Given the description of an element on the screen output the (x, y) to click on. 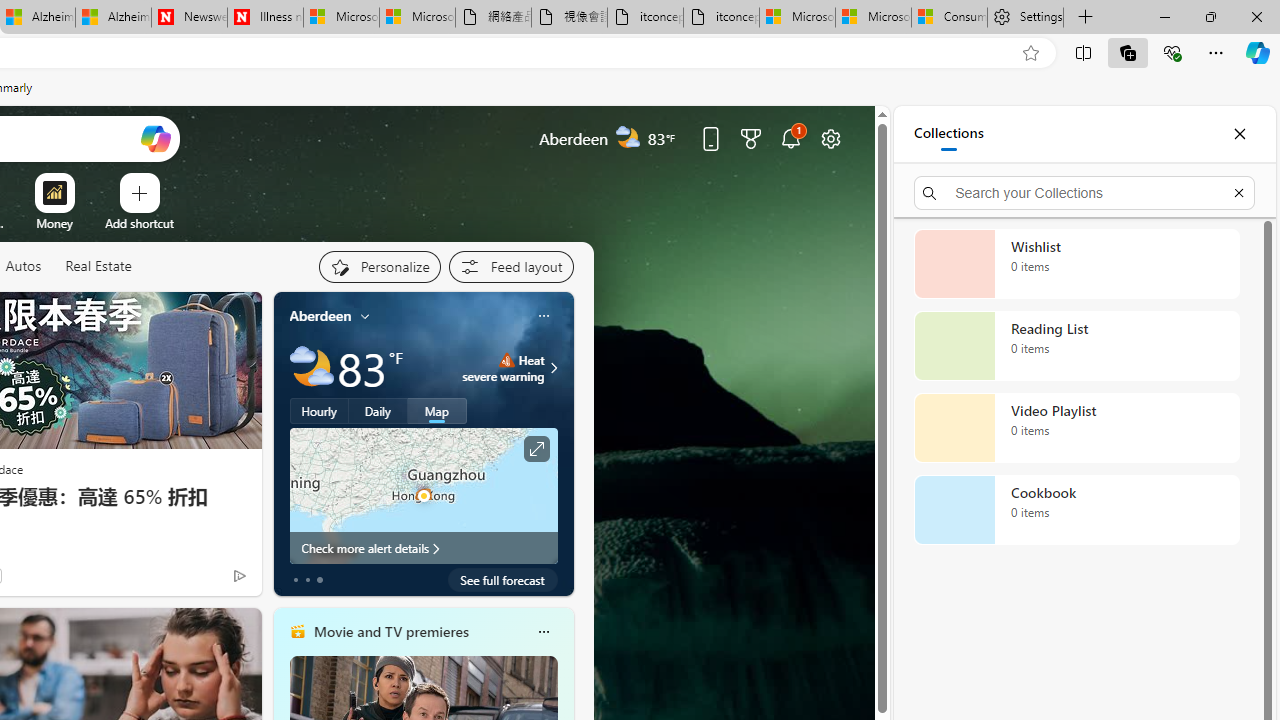
tab-1 (306, 579)
Add a site (139, 223)
Newsweek - News, Analysis, Politics, Business, Technology (189, 17)
Click to see more information (536, 449)
